Given the description of an element on the screen output the (x, y) to click on. 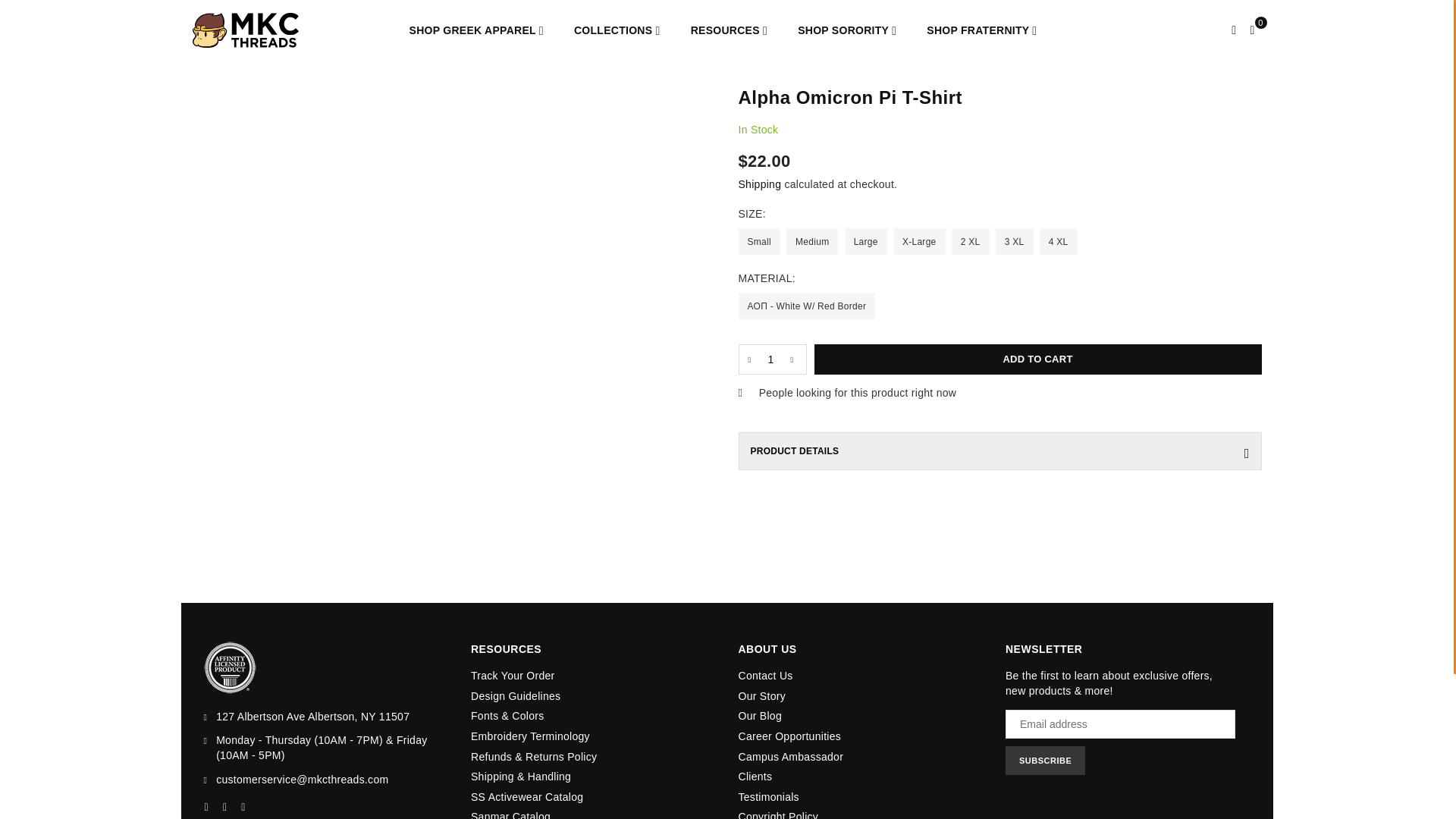
SHOP GREEK APPAREL (475, 30)
RESOURCES (728, 30)
COLLECTIONS (616, 30)
MKC Threads (256, 30)
SHOP SORORITY (846, 30)
Quantity (772, 358)
